Given the description of an element on the screen output the (x, y) to click on. 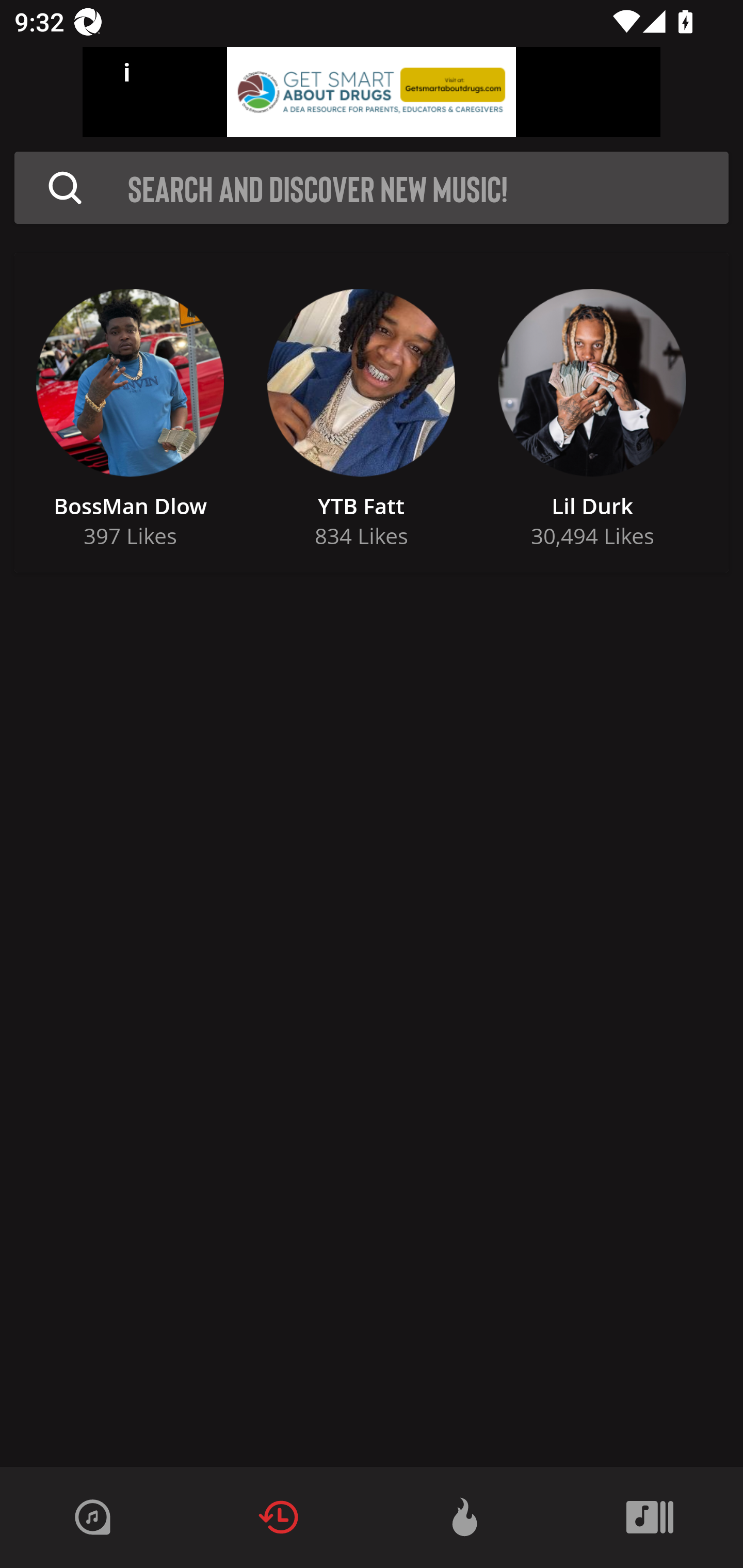
SEARCH AND DISCOVER NEW MUSIC! (427, 188)
Description (64, 188)
Description BossMan Dlow 397 Likes (129, 413)
Description YTB Fatt 834 Likes (360, 413)
Description Lil Durk 30,494 Likes (591, 413)
